Given the description of an element on the screen output the (x, y) to click on. 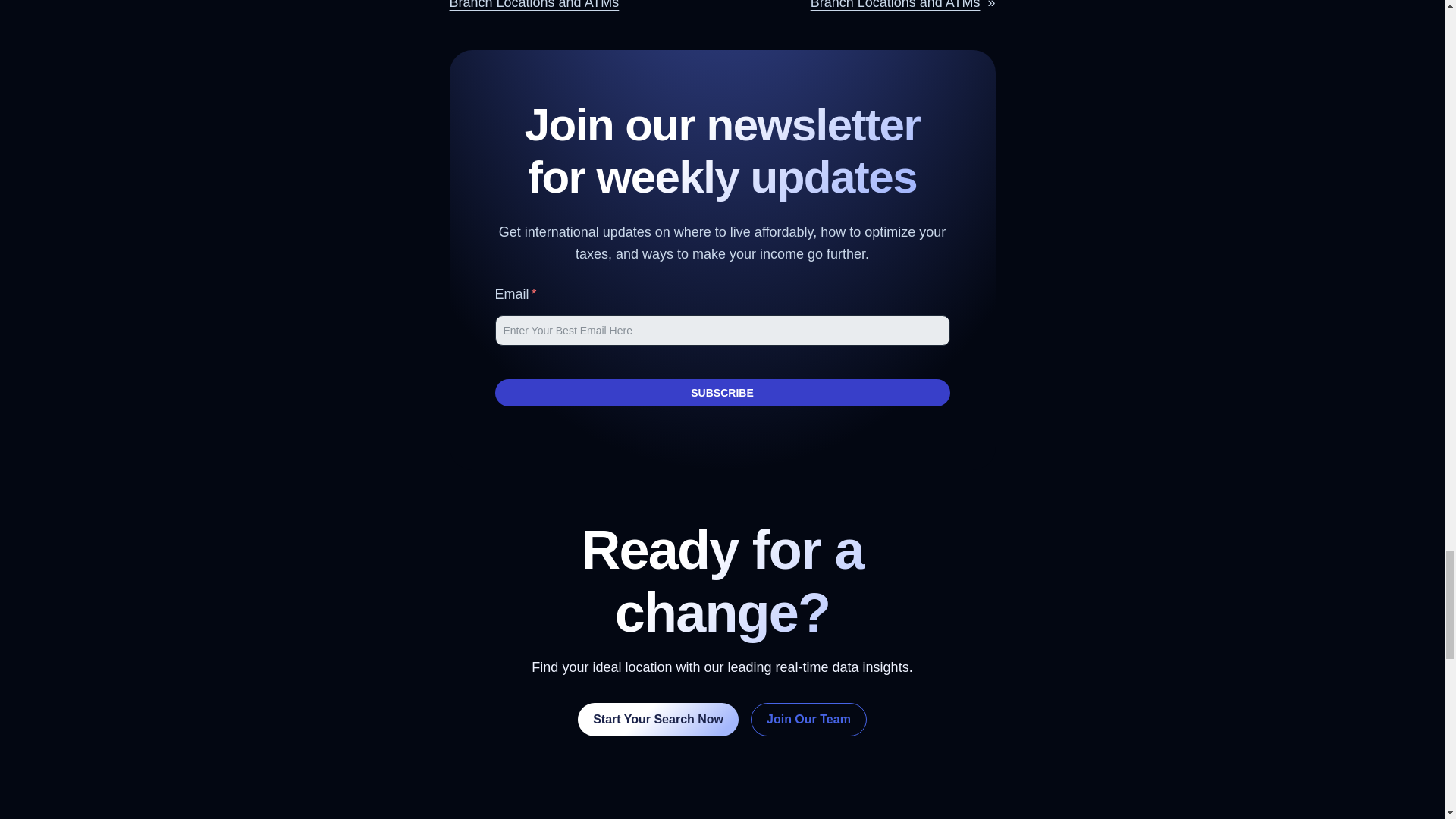
SUBSCRIBE (722, 392)
Join Our Team (808, 719)
Start Your Search Now (658, 719)
Citizens Bank Near Me: Find Nearby Branch Locations and ATMs (883, 4)
